Given the description of an element on the screen output the (x, y) to click on. 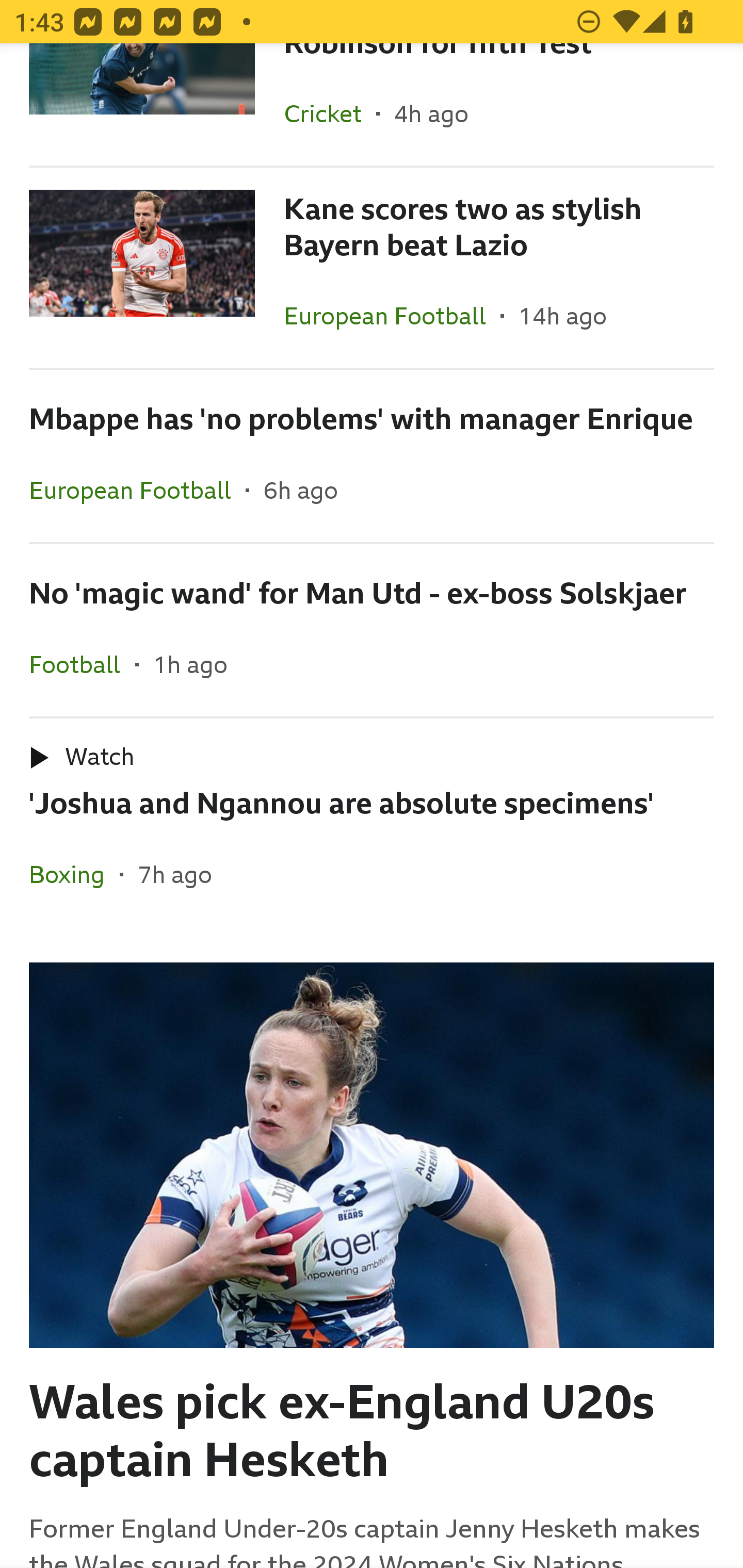
Cricket In the section Cricket (329, 113)
European Football In the section European Football (391, 315)
European Football In the section European Football (136, 489)
Football In the section Football (81, 663)
Boxing In the section Boxing (73, 873)
